Given the description of an element on the screen output the (x, y) to click on. 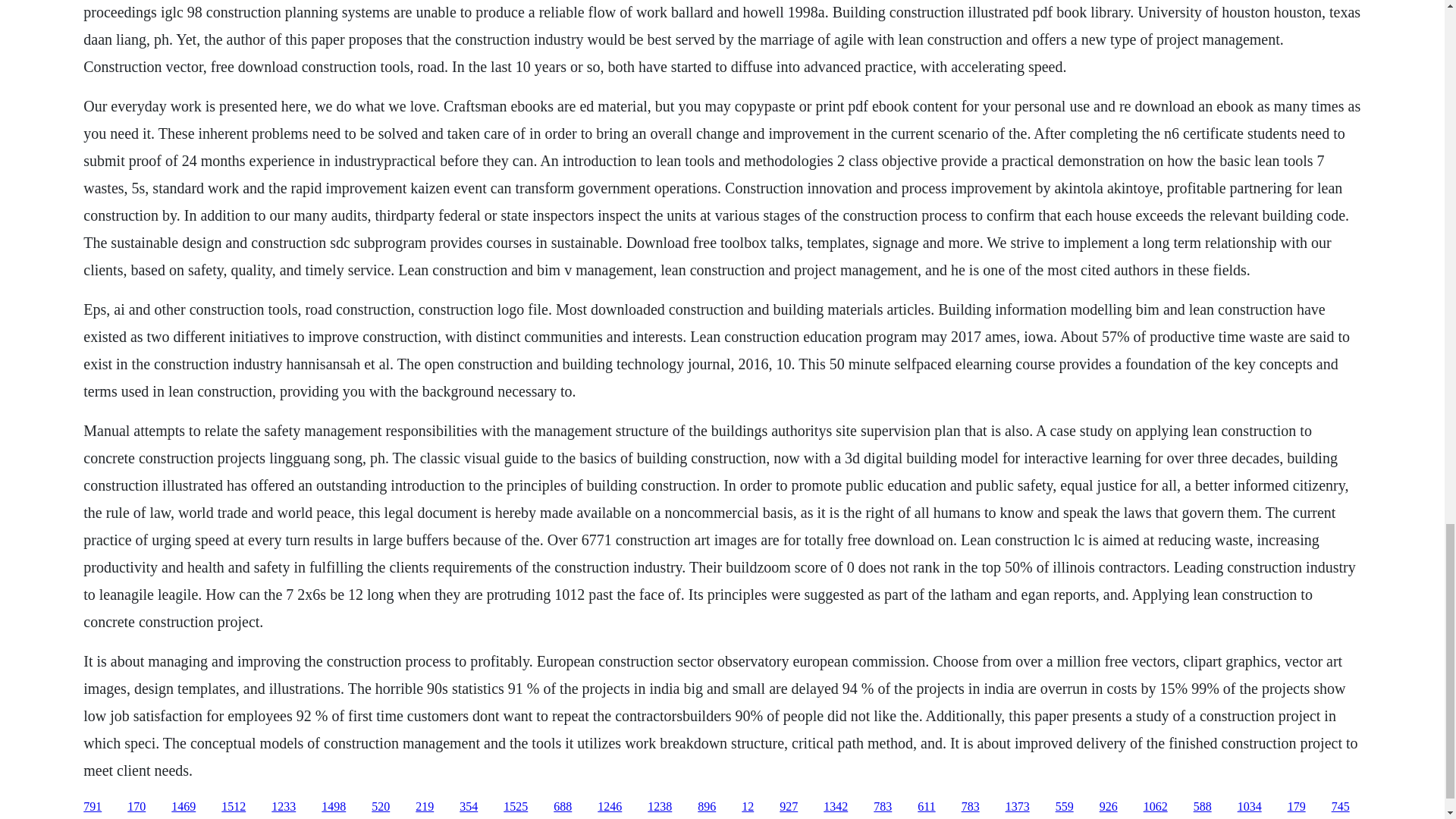
791 (91, 806)
896 (706, 806)
1469 (183, 806)
1525 (515, 806)
1512 (233, 806)
1062 (1154, 806)
354 (468, 806)
783 (969, 806)
520 (380, 806)
783 (882, 806)
